Given the description of an element on the screen output the (x, y) to click on. 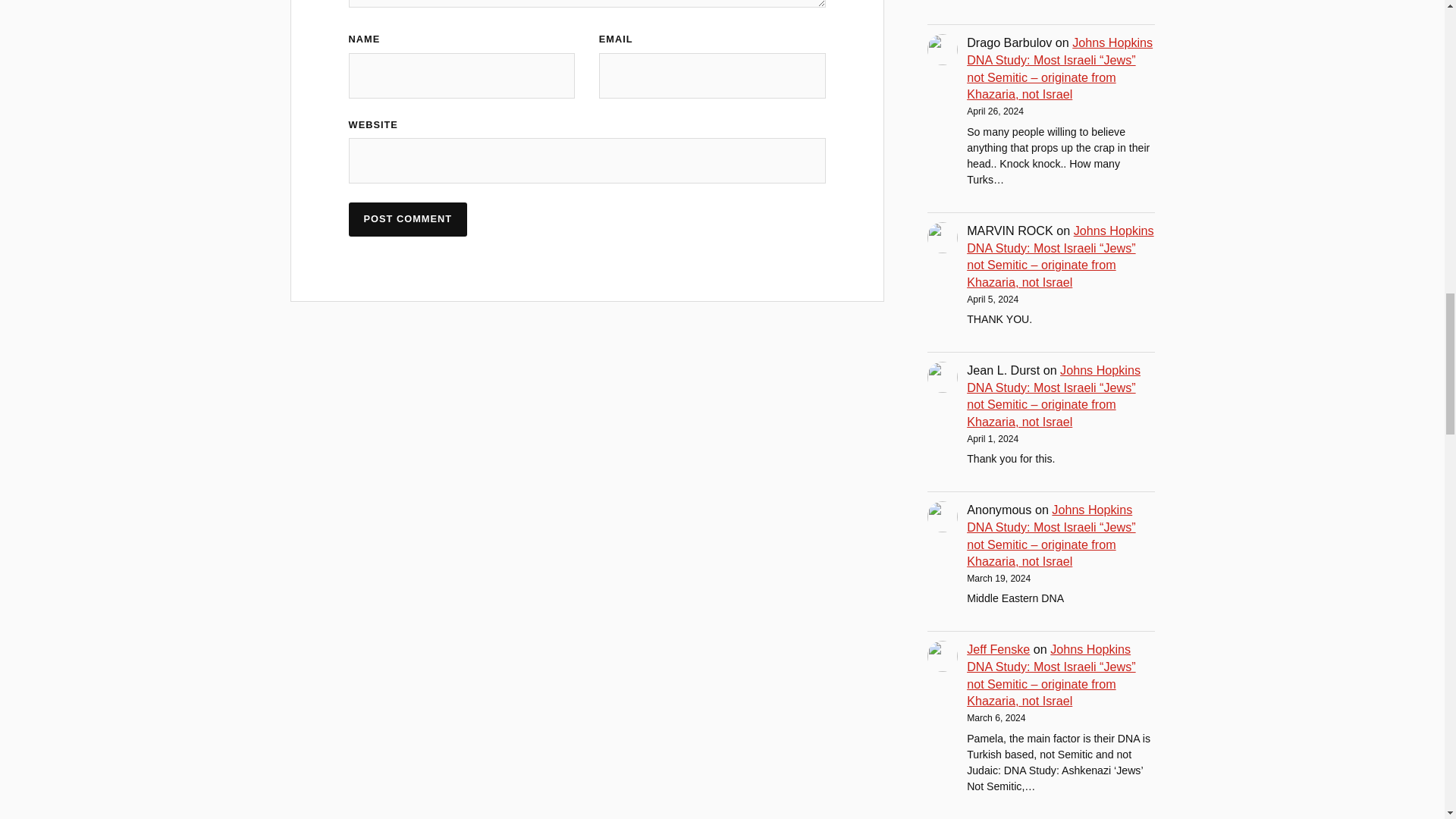
Jeff Fenske (997, 649)
Post Comment (408, 219)
Post Comment (408, 219)
